Given the description of an element on the screen output the (x, y) to click on. 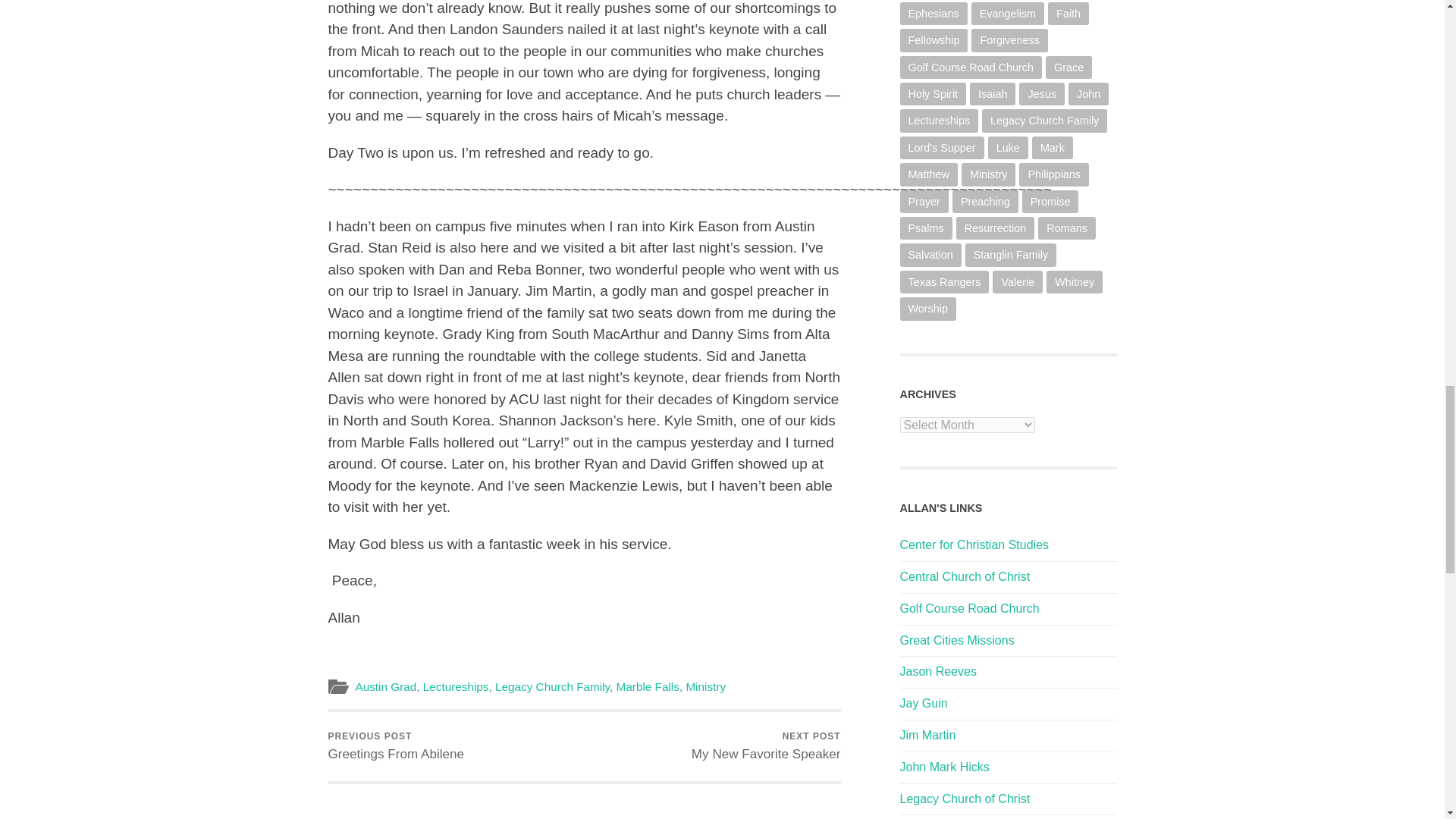
John Mark Hicks Ministries (943, 766)
God Hungry (927, 735)
CCS (973, 544)
Marble Falls (647, 686)
One in Jesus (923, 703)
Equipping and Encouraging Missionaries and Church Planters (956, 640)
GCR Church (969, 608)
Lectureships (456, 686)
Austin Grad (766, 746)
